Given the description of an element on the screen output the (x, y) to click on. 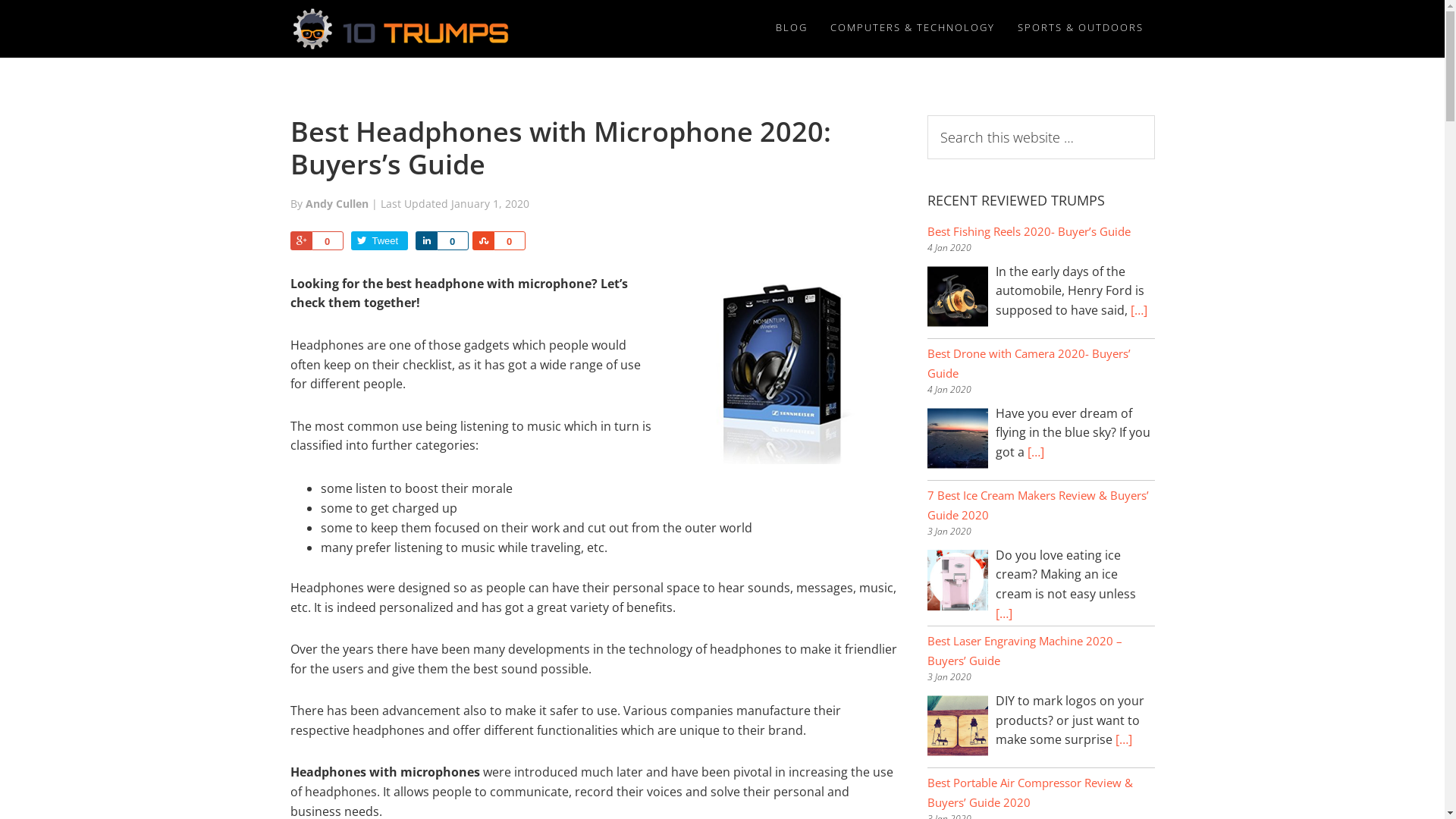
0 Element type: text (508, 240)
0 Element type: text (452, 240)
SPORTS & OUTDOORS Element type: text (1079, 27)
Search Element type: text (1154, 114)
Share Element type: text (425, 240)
10 Best Trumps Reviews Element type: text (403, 28)
BLOG Element type: text (791, 27)
Share Element type: text (481, 240)
0 Element type: text (326, 240)
Tweet Element type: text (378, 240)
Share Element type: text (299, 240)
COMPUTERS & TECHNOLOGY Element type: text (912, 27)
Skip to primary navigation Element type: text (0, 0)
